Given the description of an element on the screen output the (x, y) to click on. 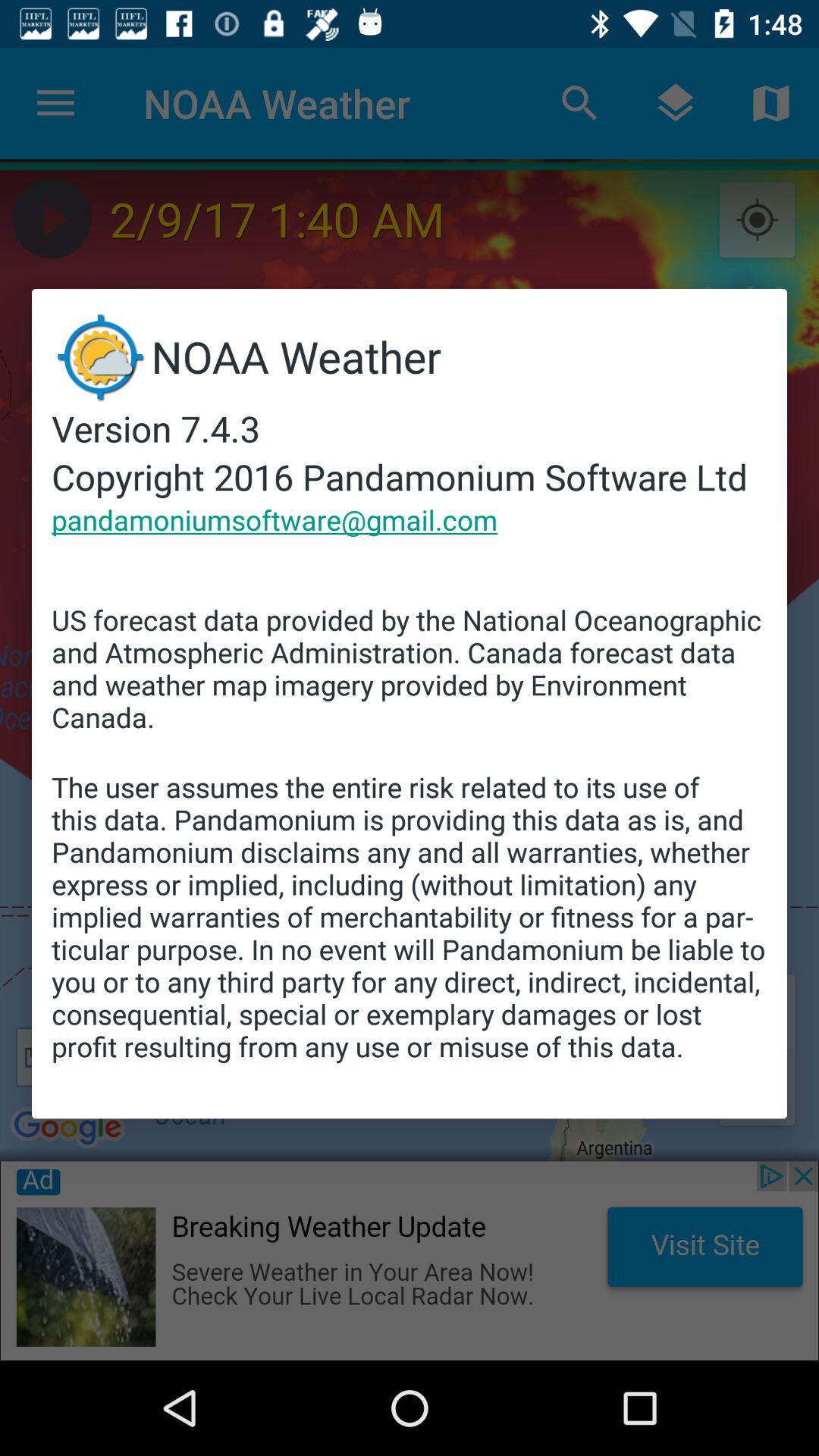
press the item above the us forecast data (274, 519)
